Given the description of an element on the screen output the (x, y) to click on. 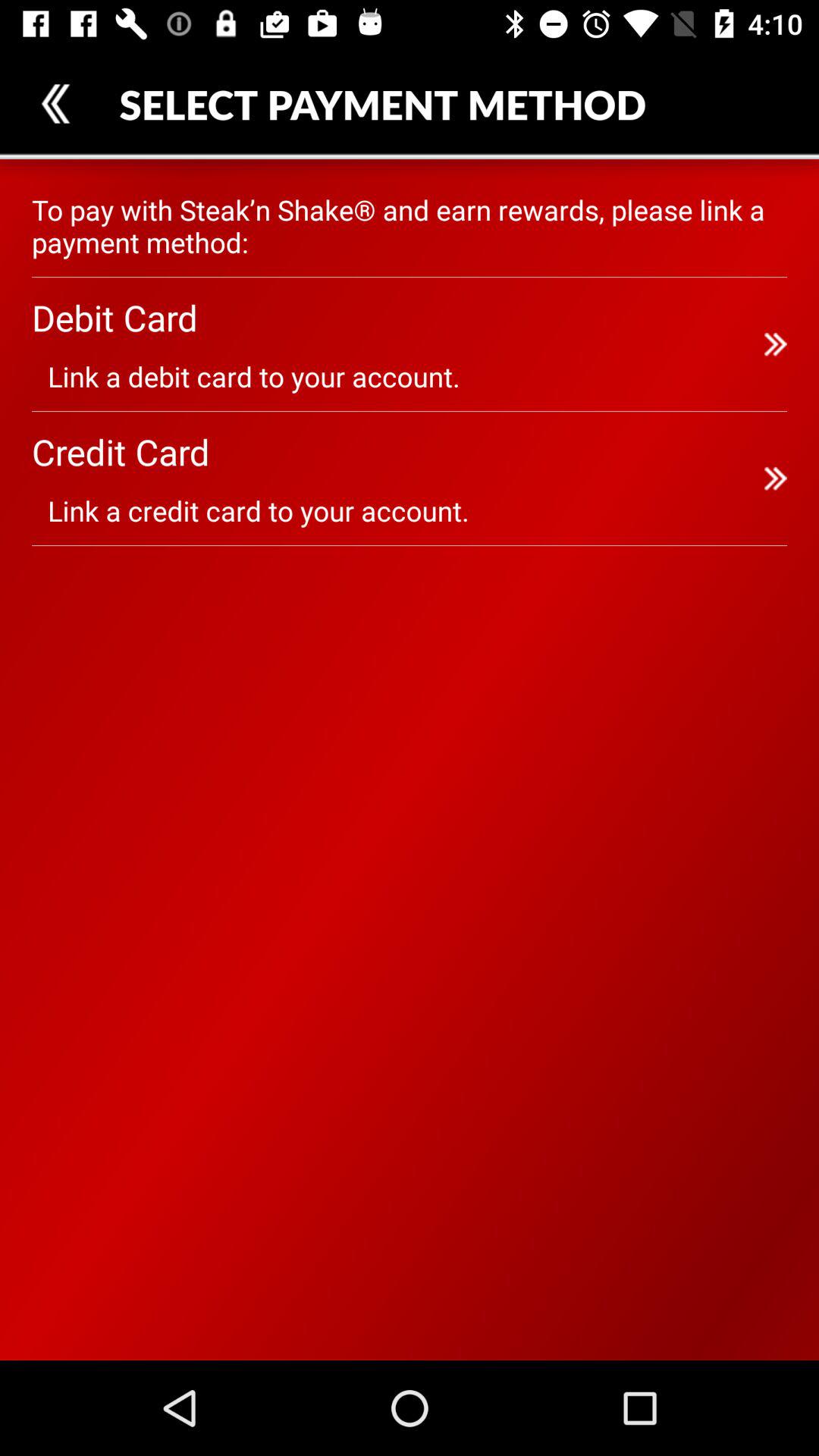
select icon to the left of the select payment method app (55, 103)
